Given the description of an element on the screen output the (x, y) to click on. 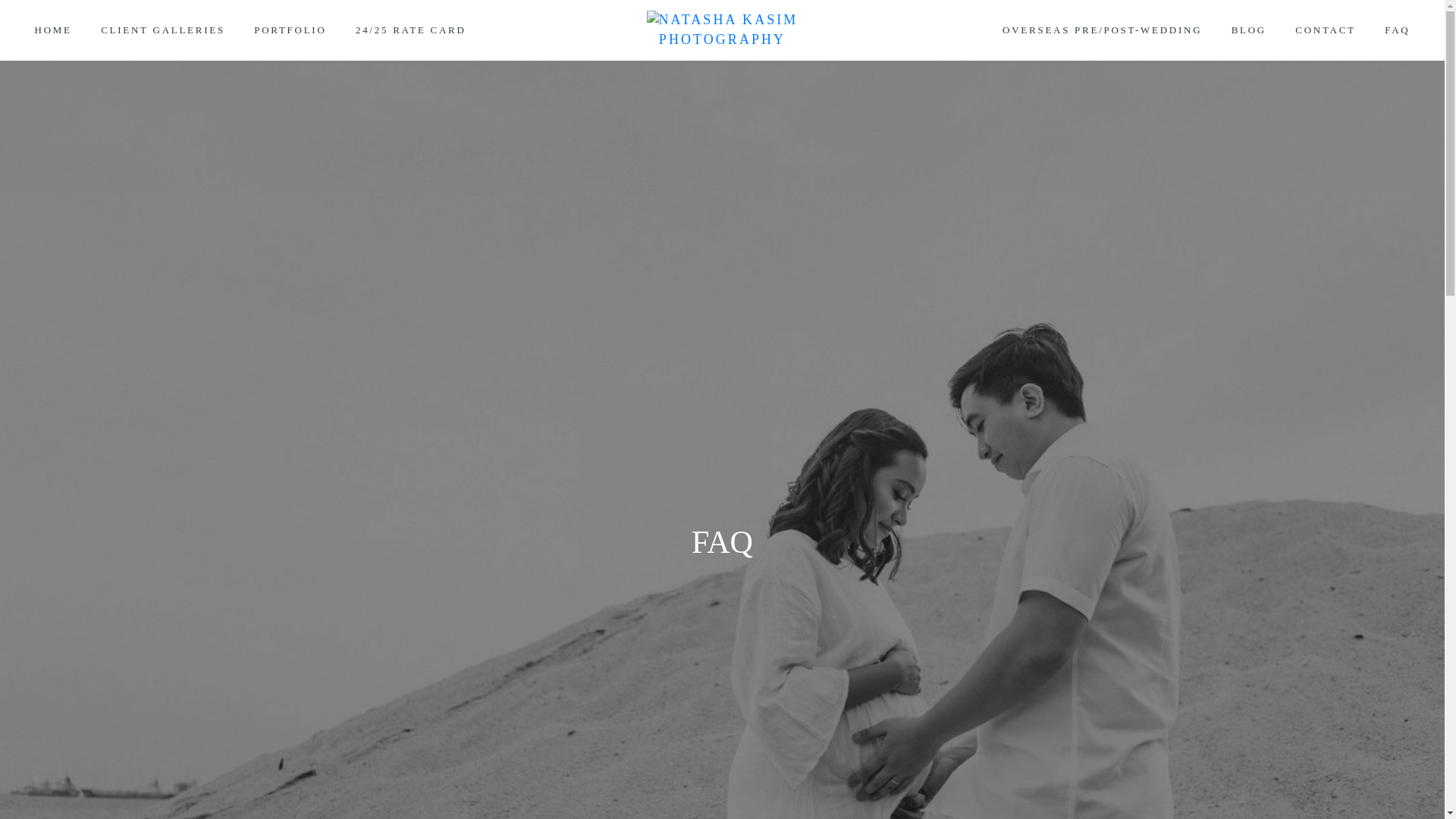
BLOG (1248, 30)
FAQ (1397, 30)
CLIENT GALLERIES (162, 30)
HOME (52, 30)
PORTFOLIO (290, 30)
CONTACT (1325, 30)
